Given the description of an element on the screen output the (x, y) to click on. 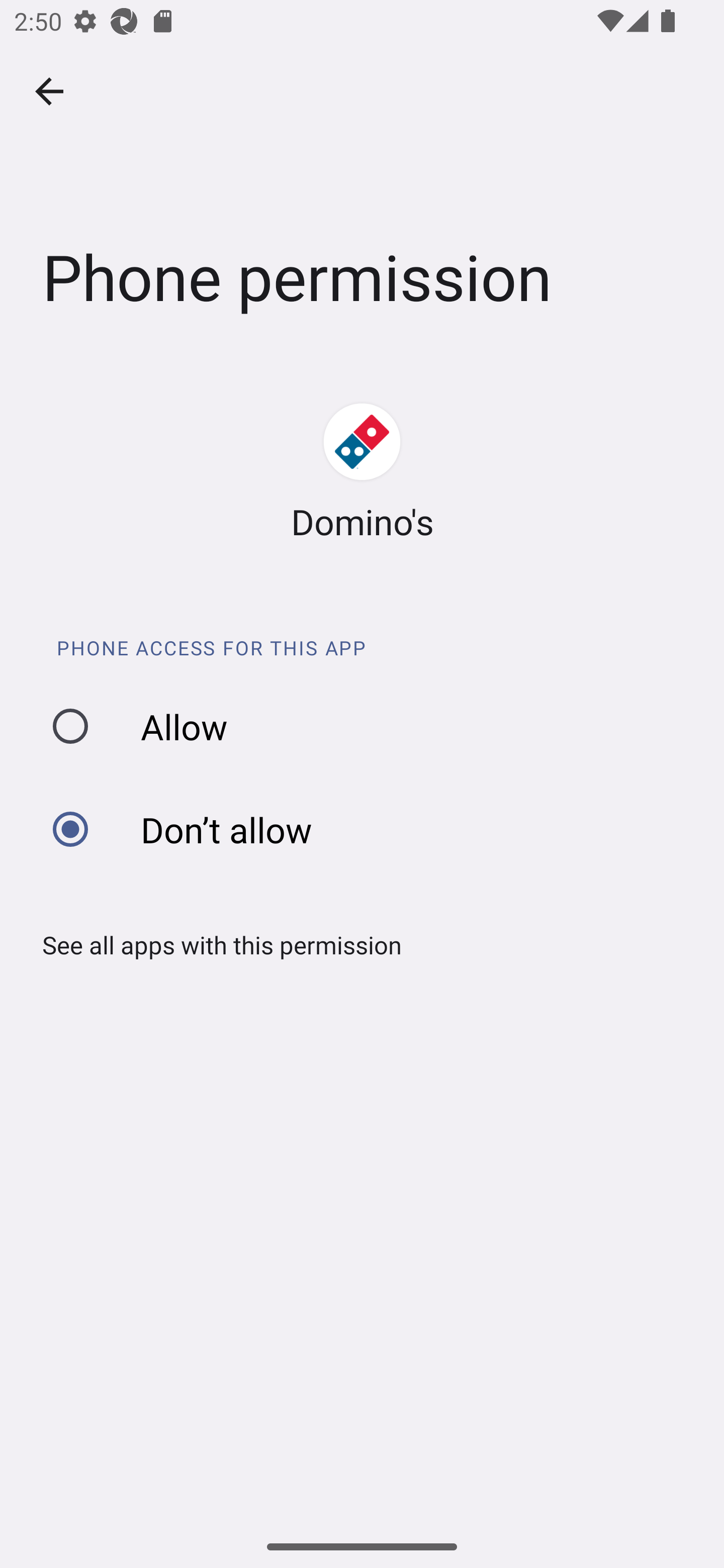
Back (49, 91)
Allow (368, 725)
Don’t allow (368, 829)
See all apps with this permission (215, 944)
